Given the description of an element on the screen output the (x, y) to click on. 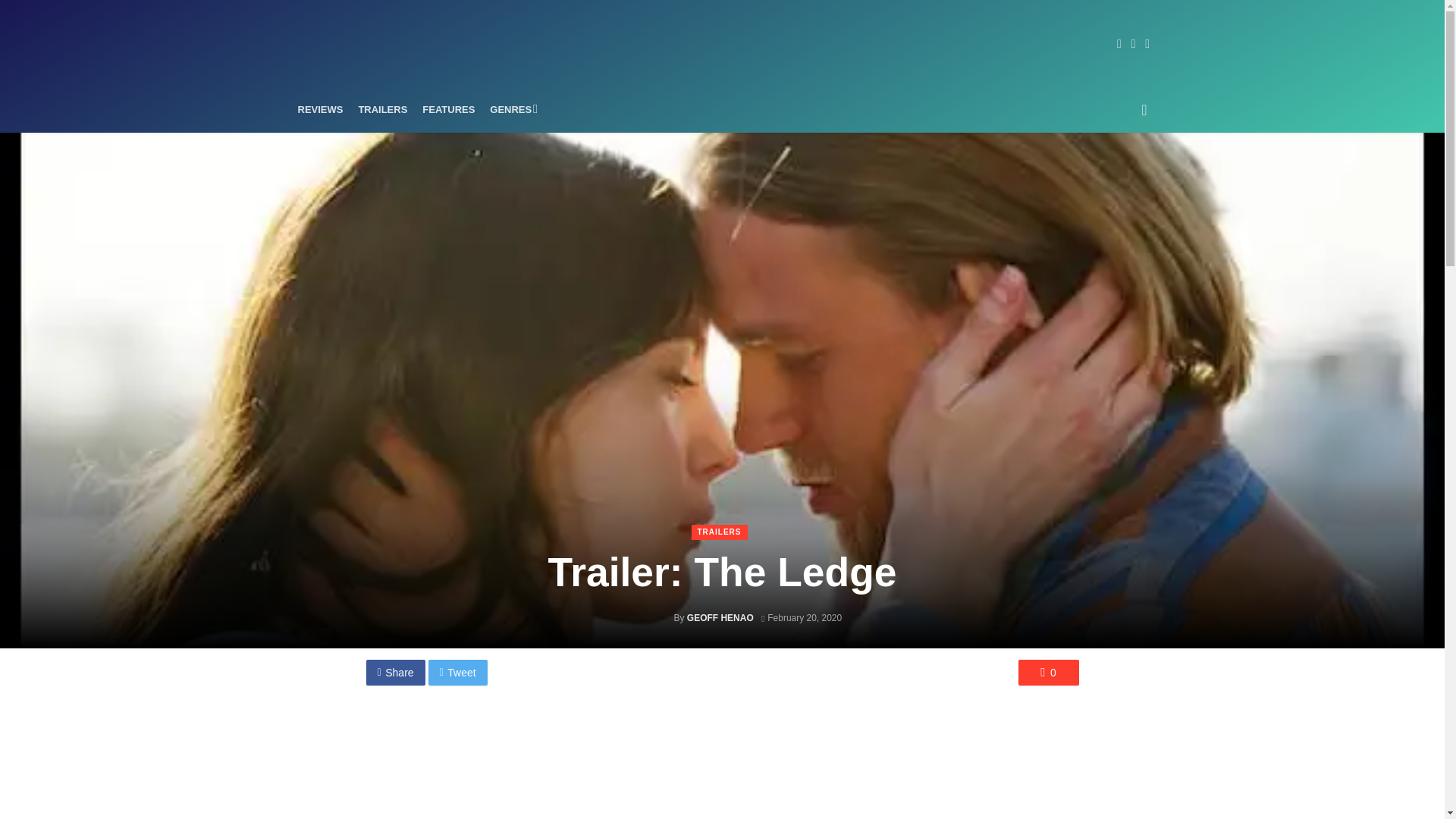
Share (395, 672)
Posts by Geoff Henao (720, 617)
GEOFF HENAO (720, 617)
Genres (511, 109)
TRAILERS (382, 109)
Tweet (457, 672)
February 20, 2020 at 12:51 pm (801, 617)
TRAILERS (719, 531)
REVIEWS (319, 109)
FEATURES (447, 109)
